Given the description of an element on the screen output the (x, y) to click on. 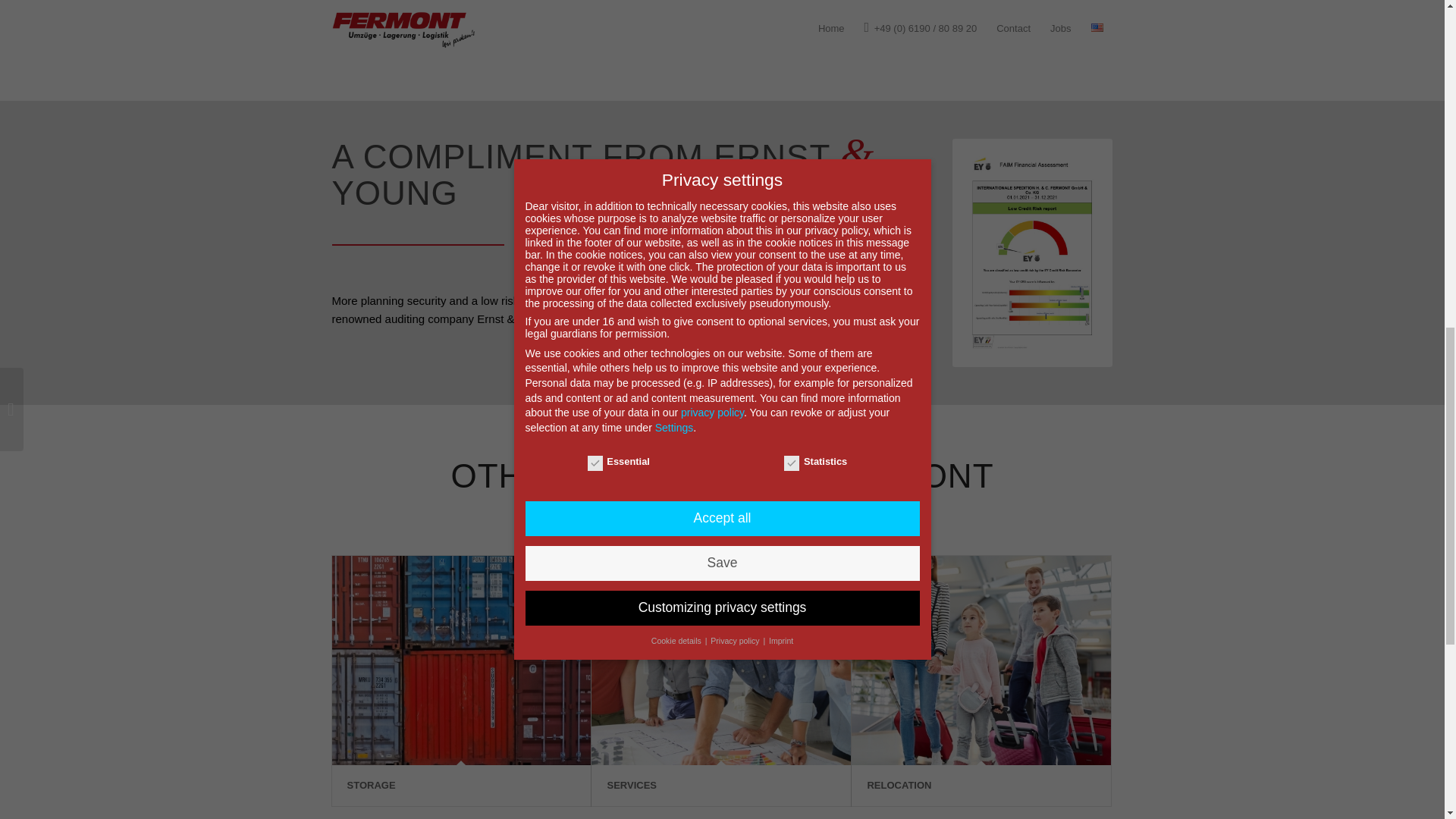
Storage (371, 785)
STORAGE (371, 785)
Services (720, 660)
Storage (461, 660)
Relocation (980, 660)
RELOCATION (898, 785)
SERVICES (631, 785)
Services (631, 785)
EYCRB-Report-Fermont-2021-E (1032, 252)
Relocation (898, 785)
